Given the description of an element on the screen output the (x, y) to click on. 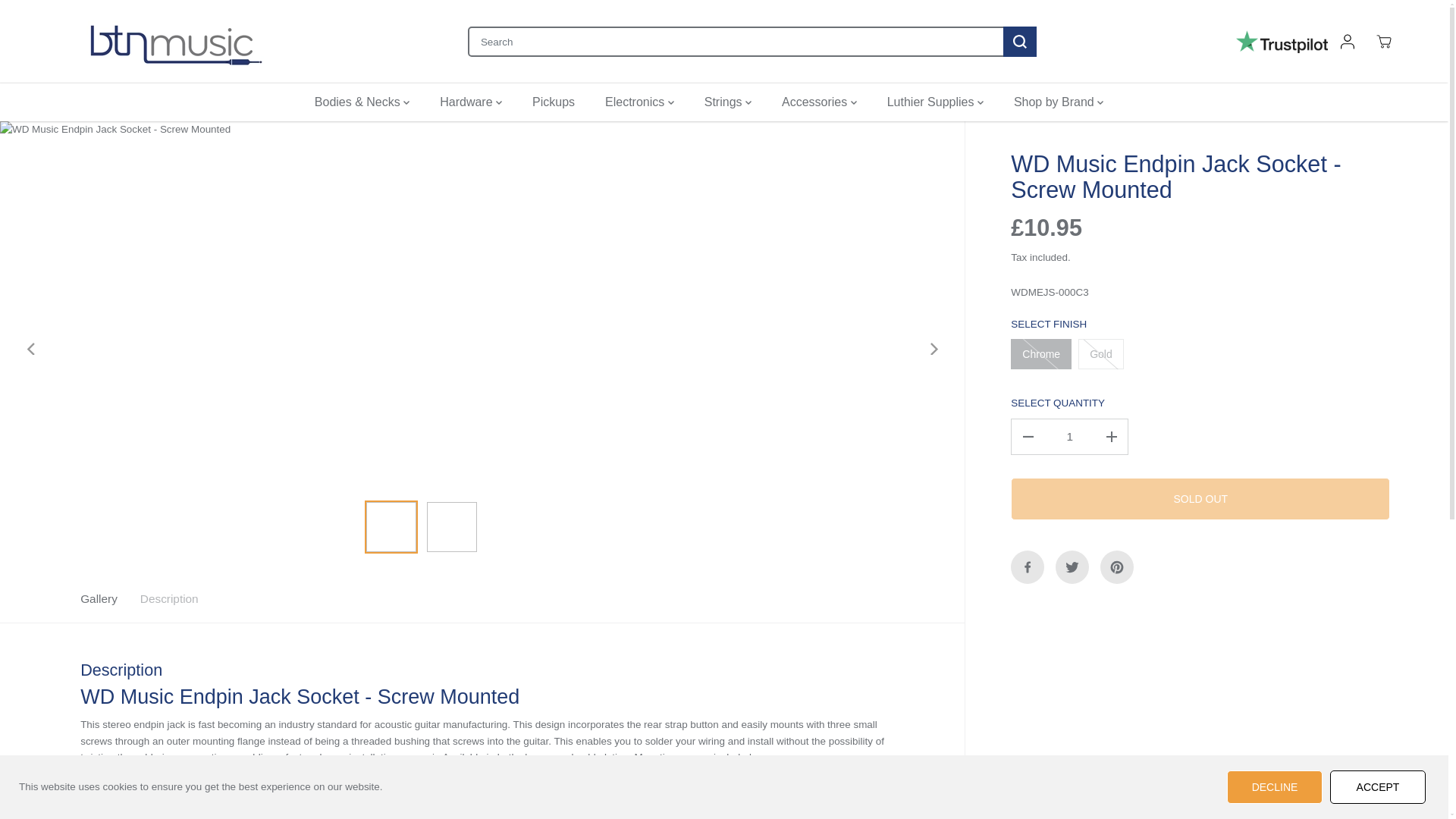
Gold (1101, 354)
Facebook (1026, 566)
Twitter (1072, 566)
1 (1069, 436)
Log in (1347, 41)
Chrome (1040, 354)
Gold (1101, 354)
Chrome (1040, 354)
Cart (1383, 41)
Pinterest (1117, 566)
